Given the description of an element on the screen output the (x, y) to click on. 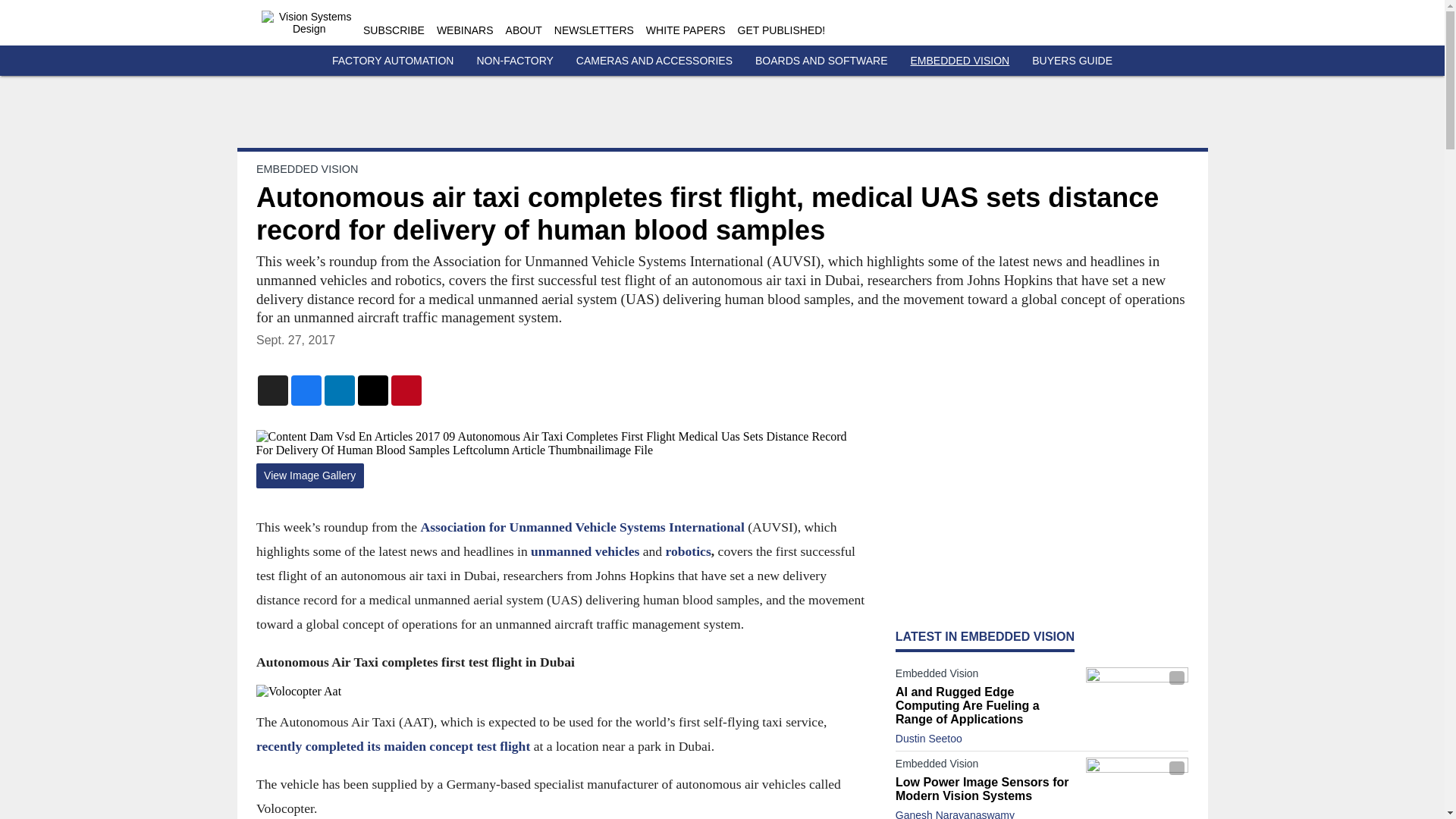
unmanned vehicles (585, 550)
BUYERS GUIDE (1072, 60)
Association for Unmanned Vehicle Systems International (582, 526)
NON-FACTORY (514, 60)
WEBINARS (464, 30)
GET PUBLISHED! (781, 30)
View Image Gallery (310, 475)
robotics (687, 550)
